Given the description of an element on the screen output the (x, y) to click on. 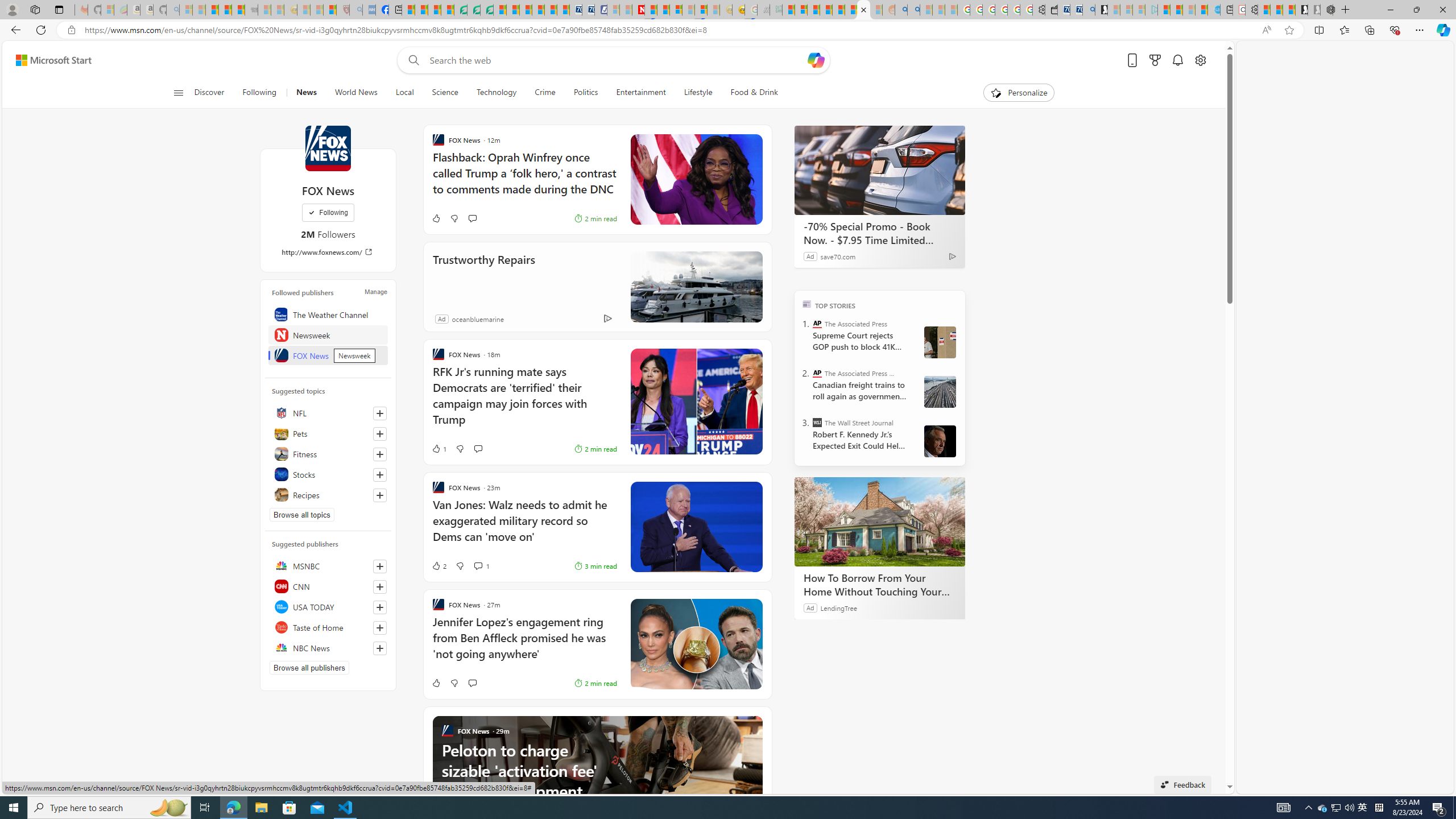
Microsoft Word - consumer-privacy address update 2.2021 (486, 9)
save70.com (837, 256)
